Given the description of an element on the screen output the (x, y) to click on. 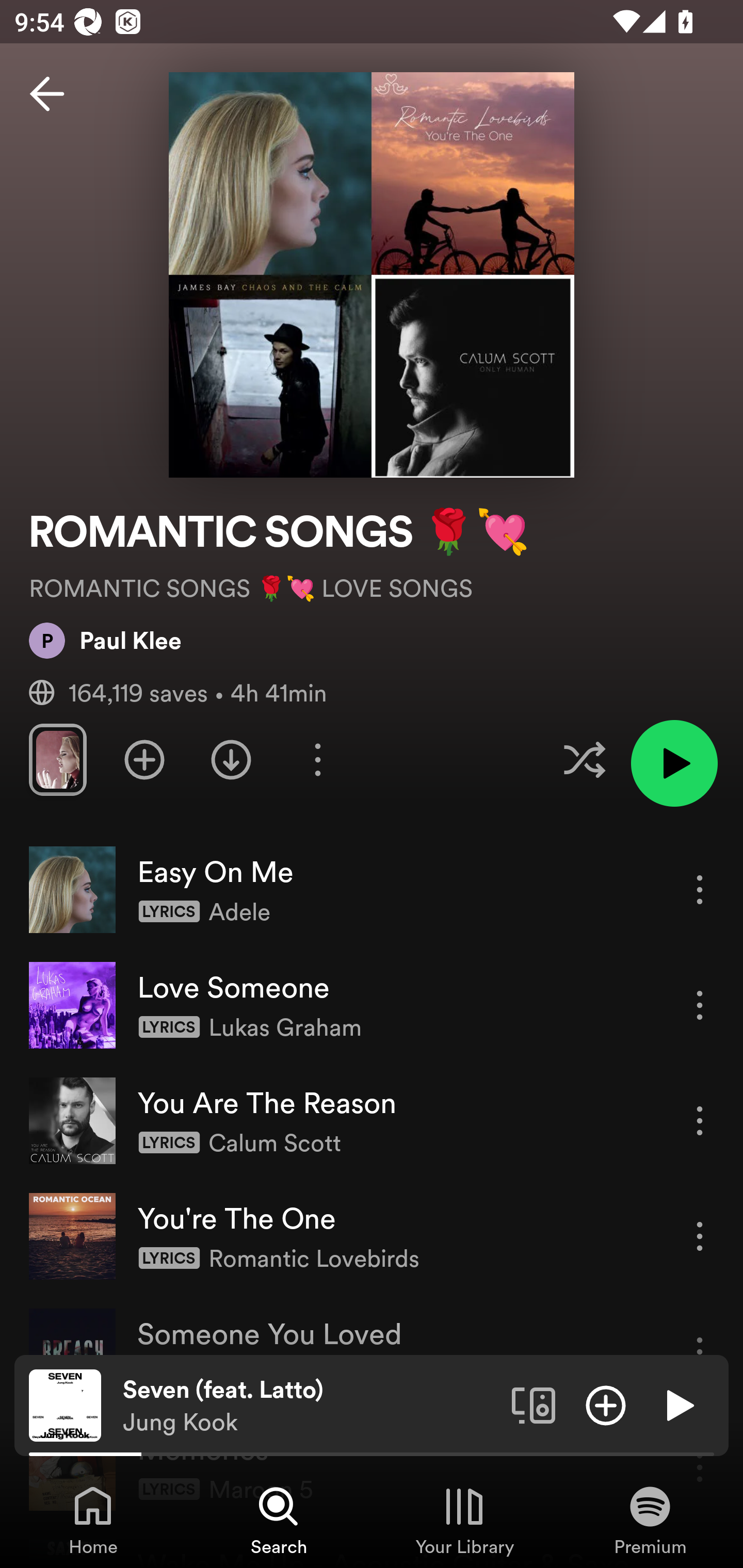
Back (46, 93)
Paul Klee (105, 640)
Swipe through previews of tracks in this playlist. (57, 759)
Add playlist to Your Library (144, 759)
Download (230, 759)
More options for playlist ROMANTIC SONGS 🌹💘 (317, 759)
Enable shuffle for this playlist (583, 759)
Play playlist (674, 763)
More options for song Easy On Me (699, 889)
More options for song Love Someone (699, 1004)
More options for song You Are The Reason (699, 1120)
More options for song You're The One (699, 1236)
Seven (feat. Latto) Jung Kook (309, 1405)
The cover art of the currently playing track (64, 1404)
Connect to a device. Opens the devices menu (533, 1404)
Add item (605, 1404)
Play (677, 1404)
Home, Tab 1 of 4 Home Home (92, 1519)
Search, Tab 2 of 4 Search Search (278, 1519)
Your Library, Tab 3 of 4 Your Library Your Library (464, 1519)
Premium, Tab 4 of 4 Premium Premium (650, 1519)
